Given the description of an element on the screen output the (x, y) to click on. 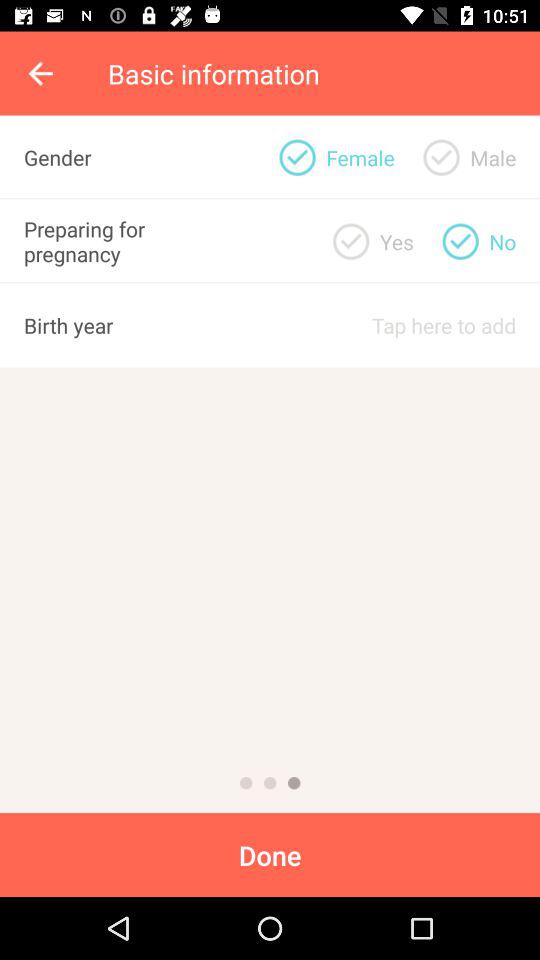
launch item below the basic information item (493, 157)
